Given the description of an element on the screen output the (x, y) to click on. 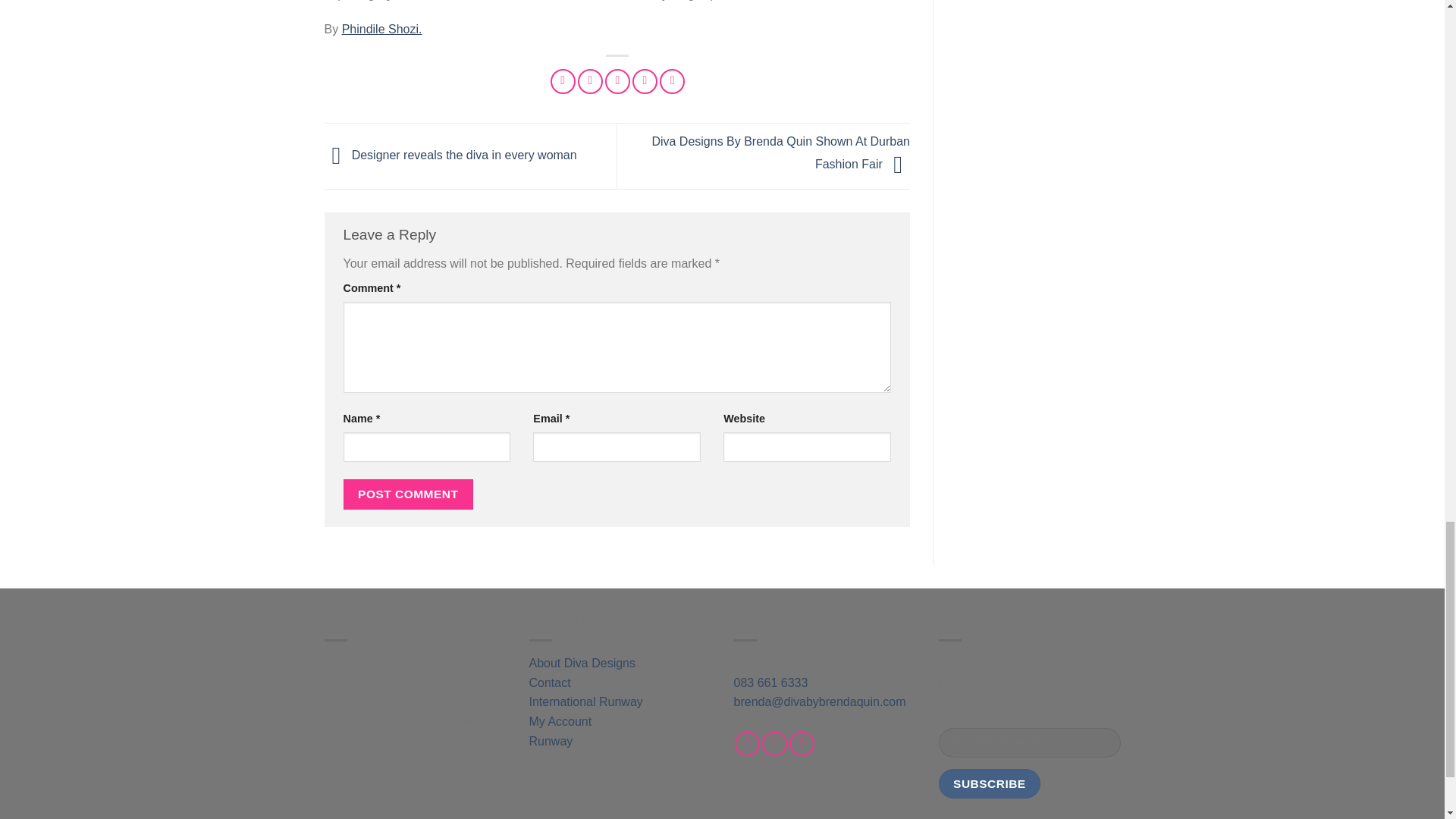
Share on LinkedIn (671, 81)
Post Comment (407, 493)
Designer reveals the diva in every woman (450, 154)
Email to a Friend (617, 81)
Phindile Shozi. (382, 29)
Subscribe (990, 783)
Pin on Pinterest (644, 81)
Diva Designs By Brenda Quin Shown At Durban Fashion Fair (780, 153)
Share on Twitter (590, 81)
Share on Facebook (562, 81)
Post Comment (407, 493)
